Given the description of an element on the screen output the (x, y) to click on. 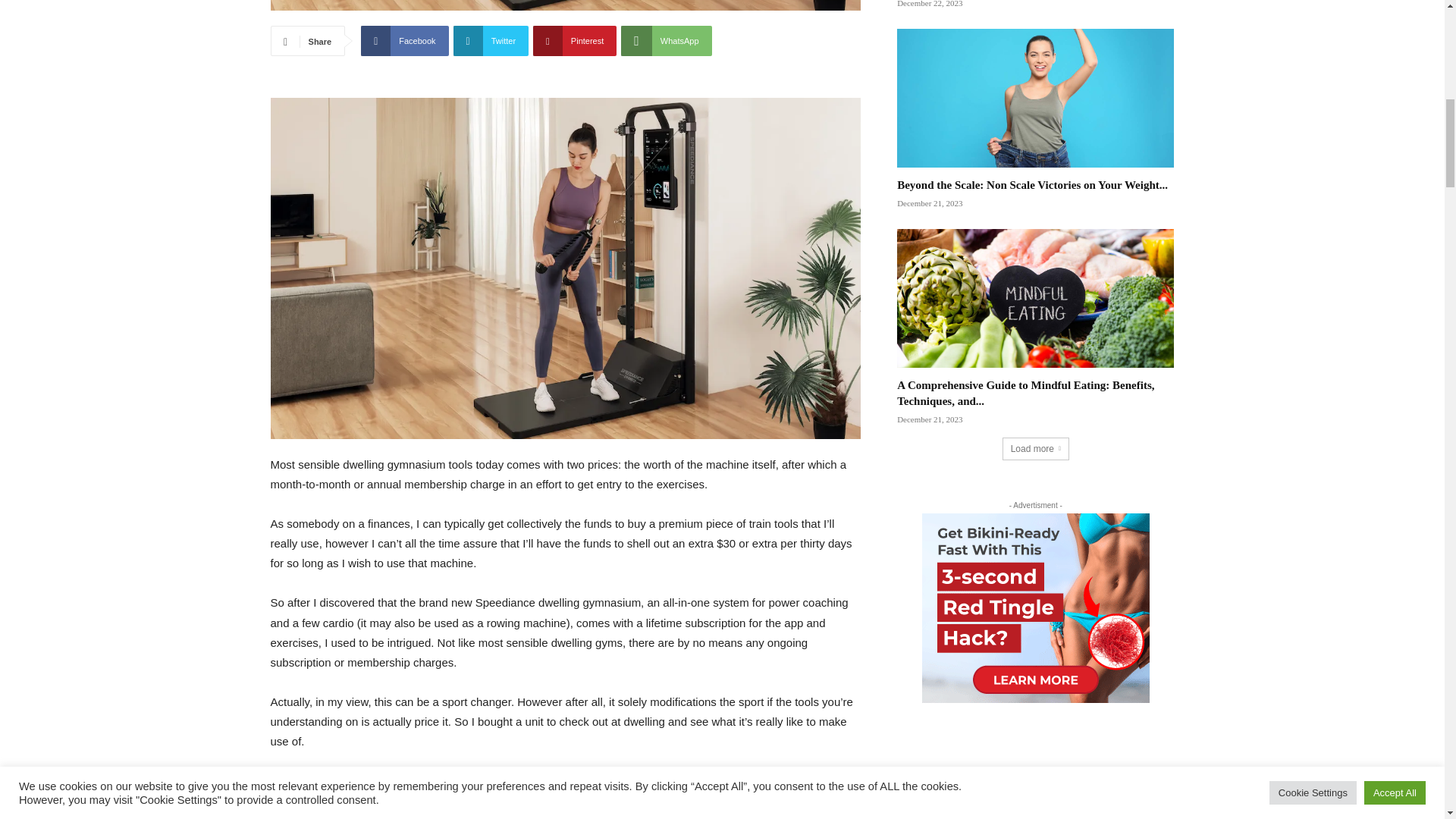
Facebook (404, 40)
Facebook (404, 40)
WhatsApp (666, 40)
Twitter (490, 40)
WhatsApp (666, 40)
Pinterest (573, 40)
Pinterest (573, 40)
Twitter (490, 40)
